Given the description of an element on the screen output the (x, y) to click on. 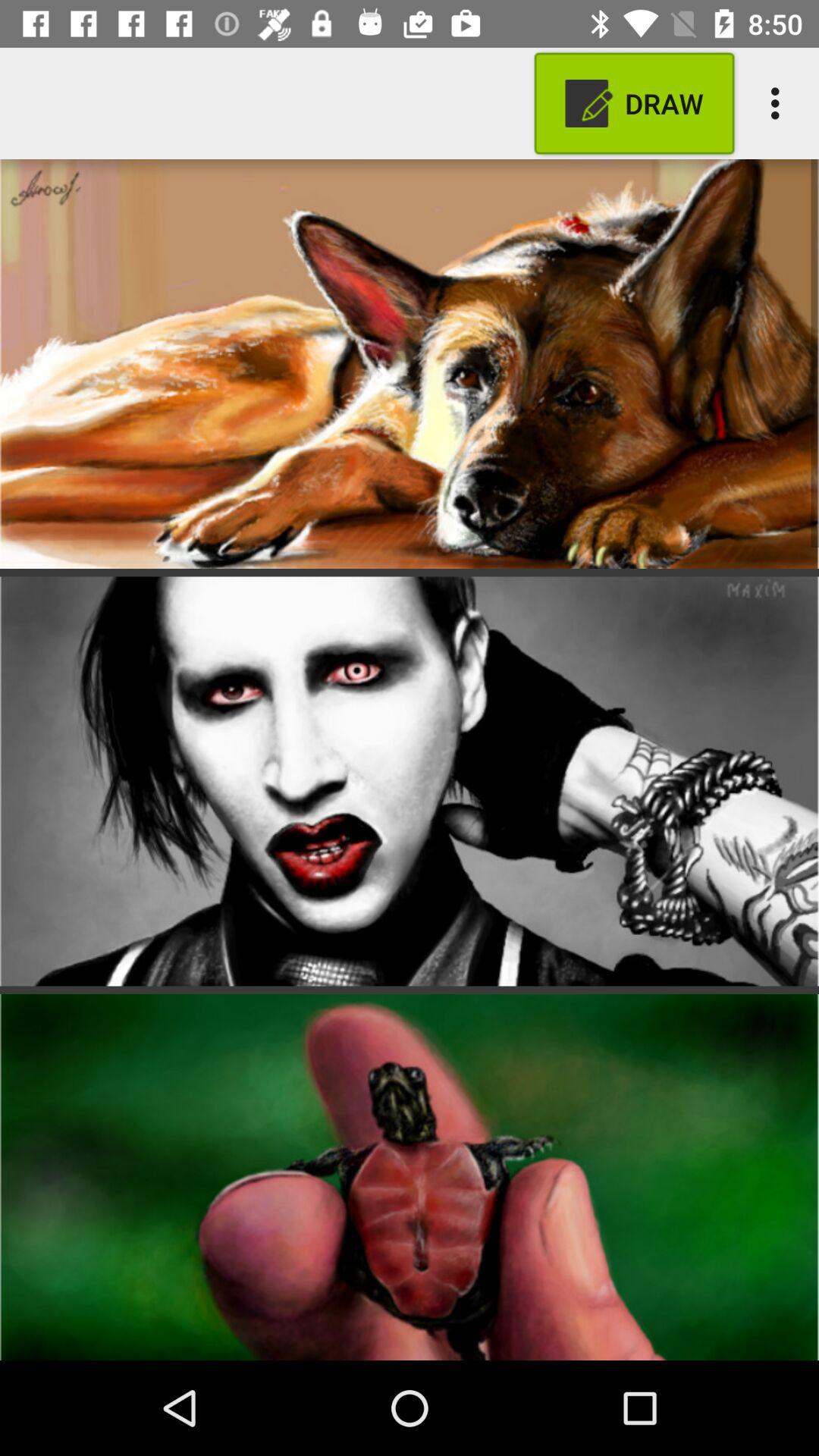
turn off draw (634, 103)
